Given the description of an element on the screen output the (x, y) to click on. 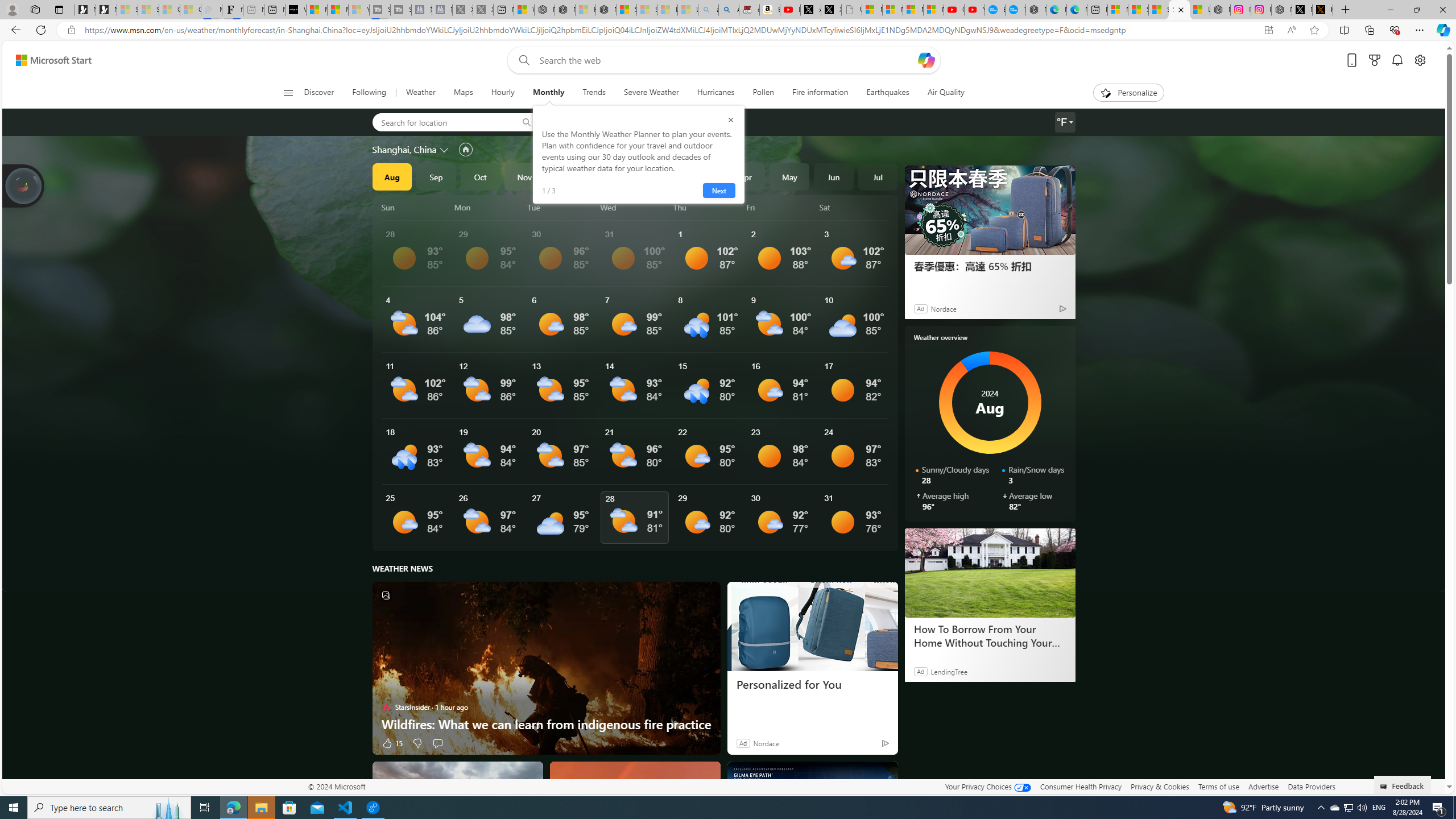
Set as primary location (465, 149)
Aug (391, 176)
Open settings (1420, 60)
Next (718, 190)
Weather settings (1064, 122)
Monthly (547, 92)
Fire information (820, 92)
Mar (700, 176)
Nov (523, 176)
Open navigation menu (287, 92)
